Given the description of an element on the screen output the (x, y) to click on. 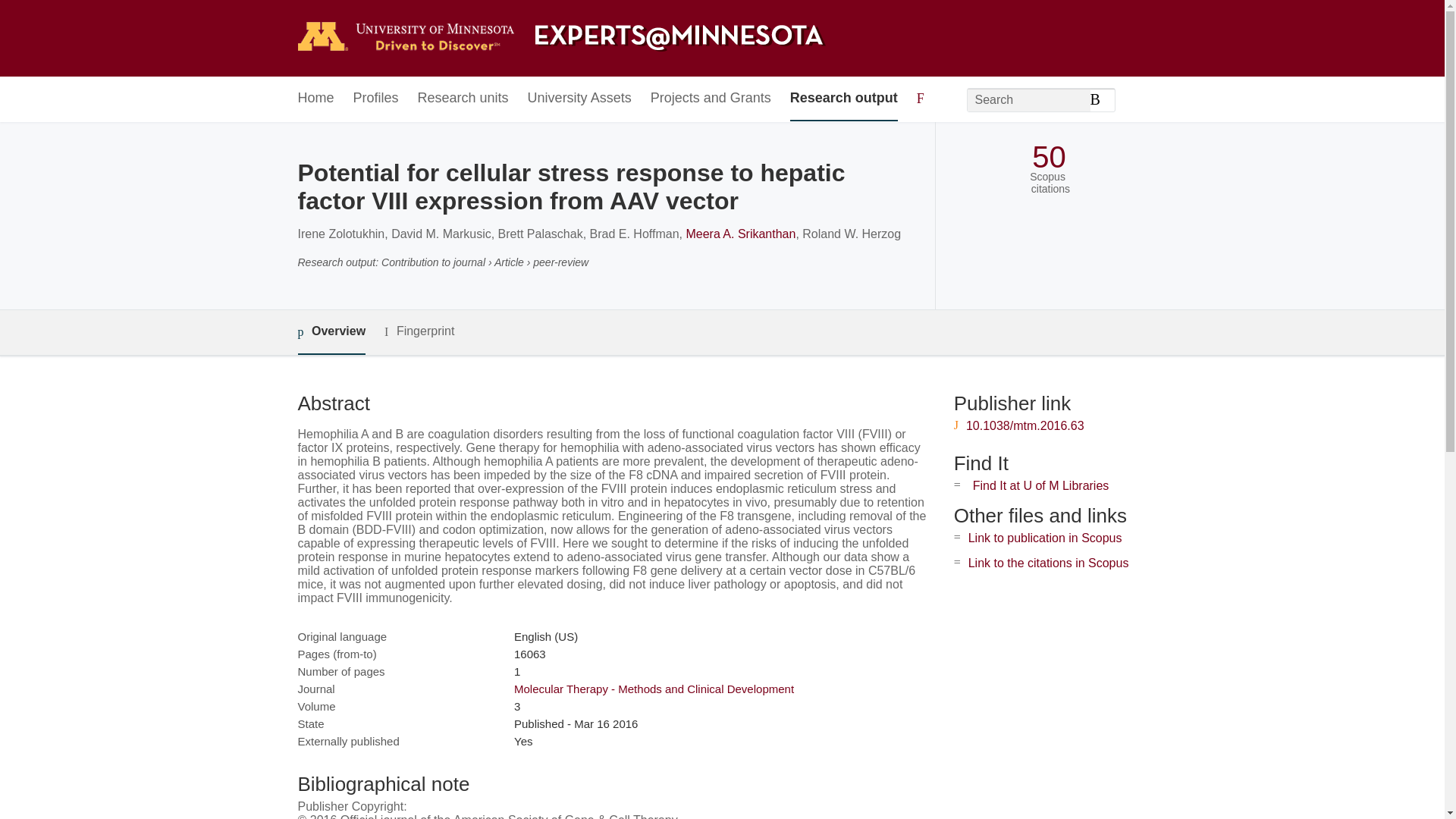
Fingerprint (419, 331)
Projects and Grants (710, 98)
University Assets (579, 98)
Link to the citations in Scopus (1048, 562)
Find It at U of M Libraries (1040, 485)
Link to publication in Scopus (1045, 537)
Profiles (375, 98)
Overview (331, 332)
Research units (462, 98)
Meera A. Srikanthan (739, 233)
Research output (844, 98)
Molecular Therapy - Methods and Clinical Development (653, 688)
50 (1048, 157)
